Given the description of an element on the screen output the (x, y) to click on. 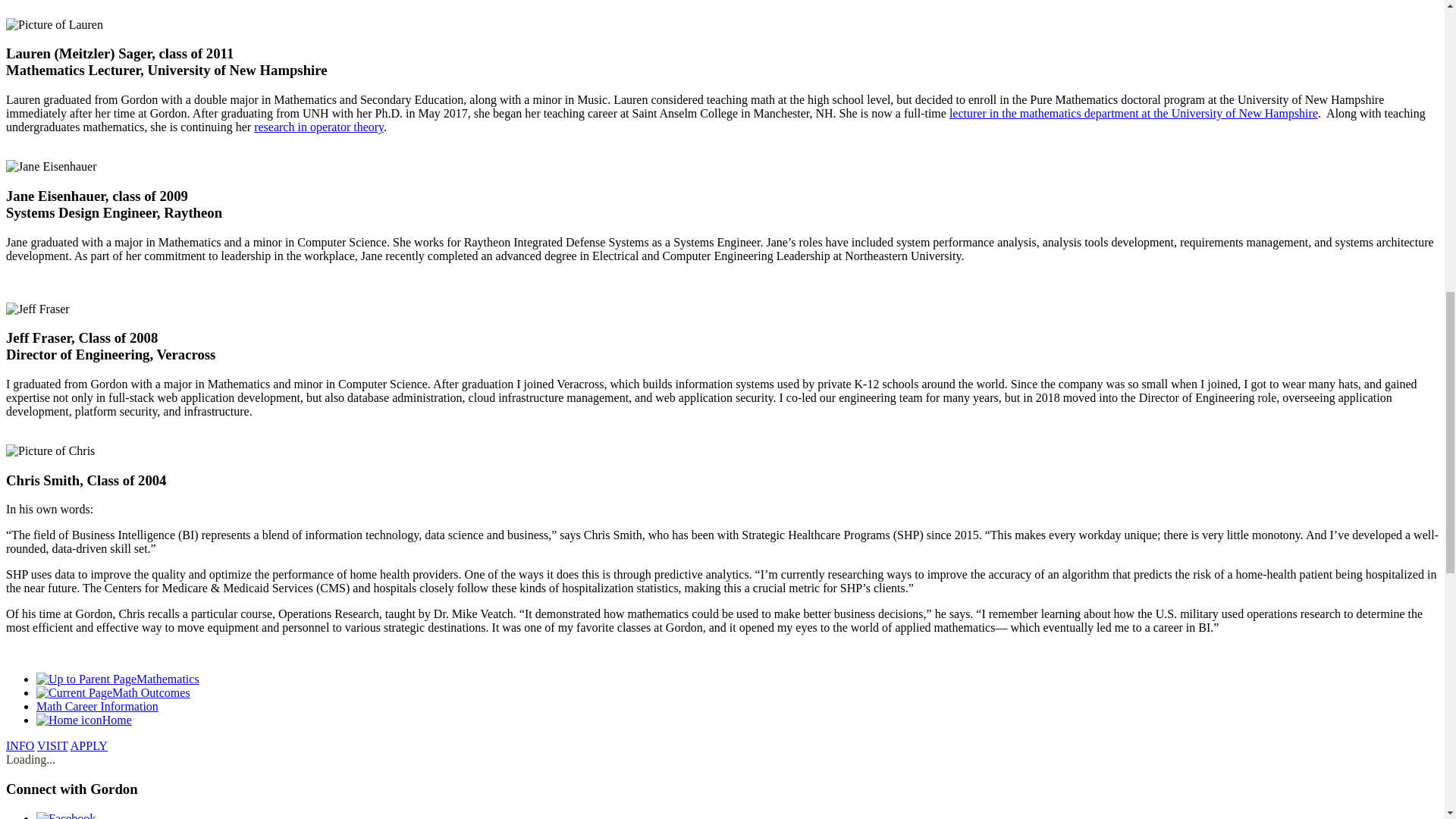
INFO (19, 745)
VISIT (52, 745)
Math Career Information (97, 706)
Mathematics (117, 678)
Home (84, 719)
APPLY (88, 745)
research in operator theory (318, 126)
Math Outcomes (113, 692)
